Given the description of an element on the screen output the (x, y) to click on. 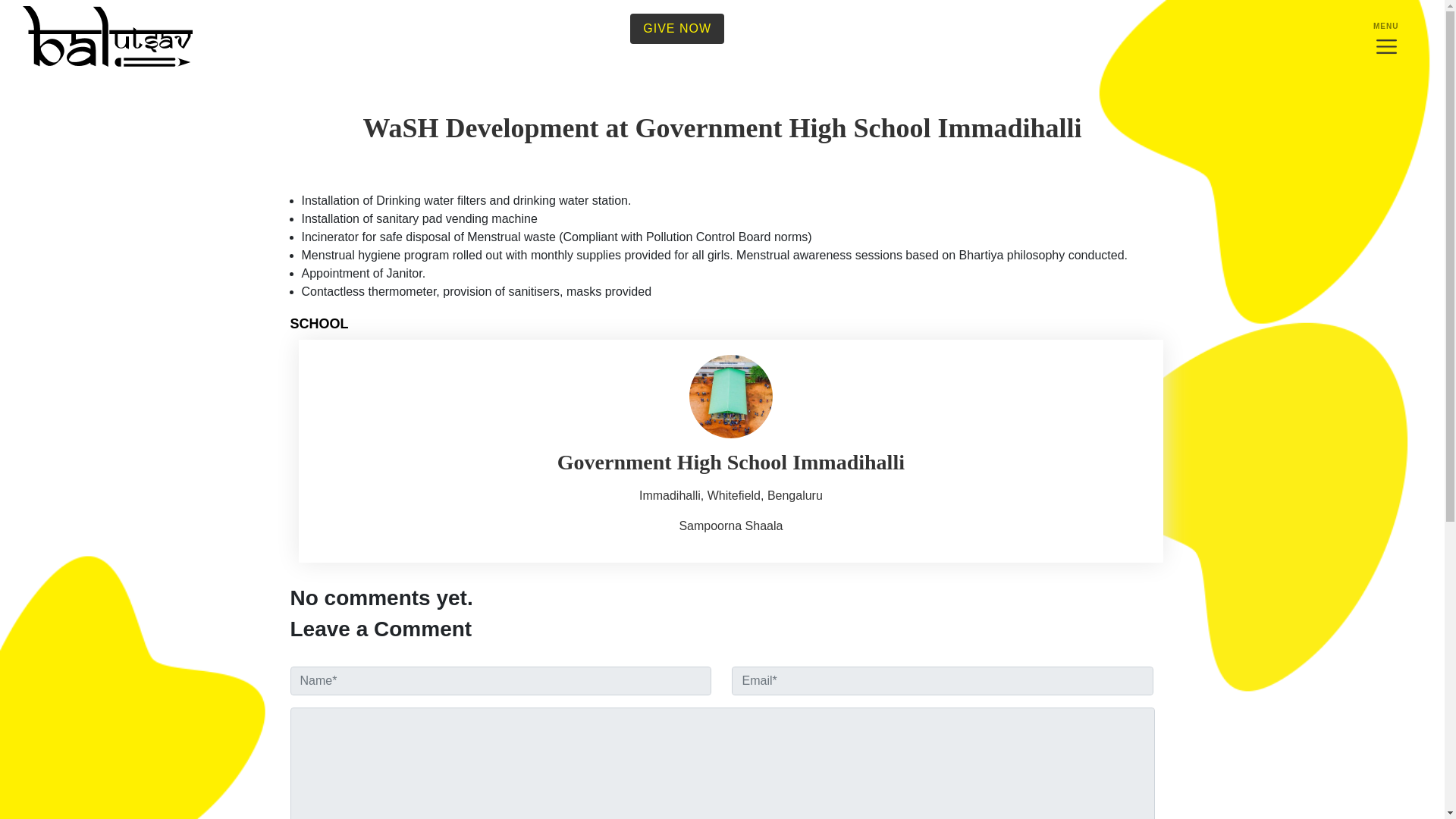
GIVE NOW (676, 28)
WaSH Development at Government High School Immadihalli (721, 128)
WaSH Development at Government High School Immadihalli (721, 128)
Government High School Immadihalli (730, 462)
Bal Utsav is a leading NGO for Education in India (107, 34)
